Given the description of an element on the screen output the (x, y) to click on. 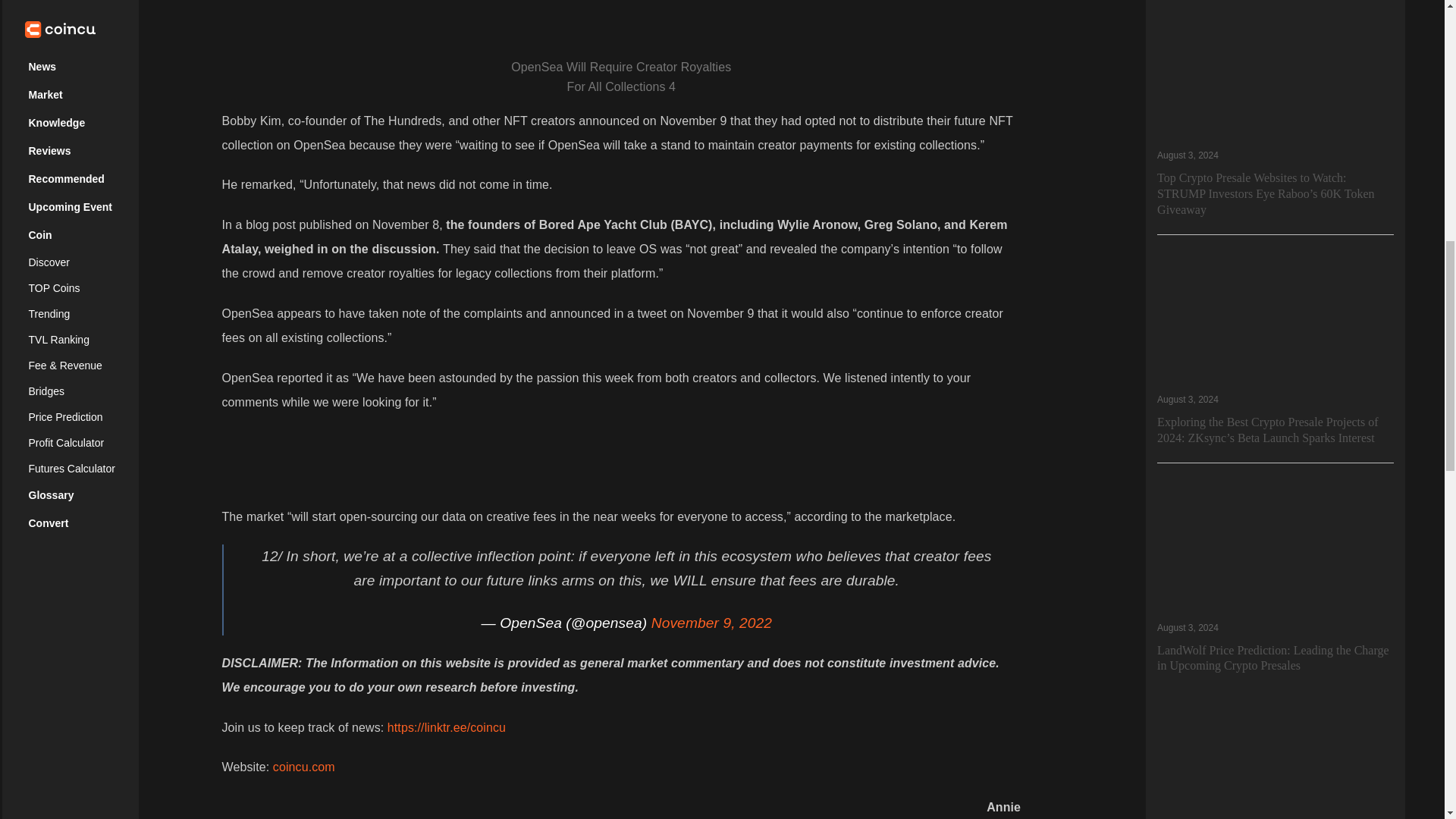
OpenSea Will Require Creator Royalties For All Collections 2 (620, 20)
